Given the description of an element on the screen output the (x, y) to click on. 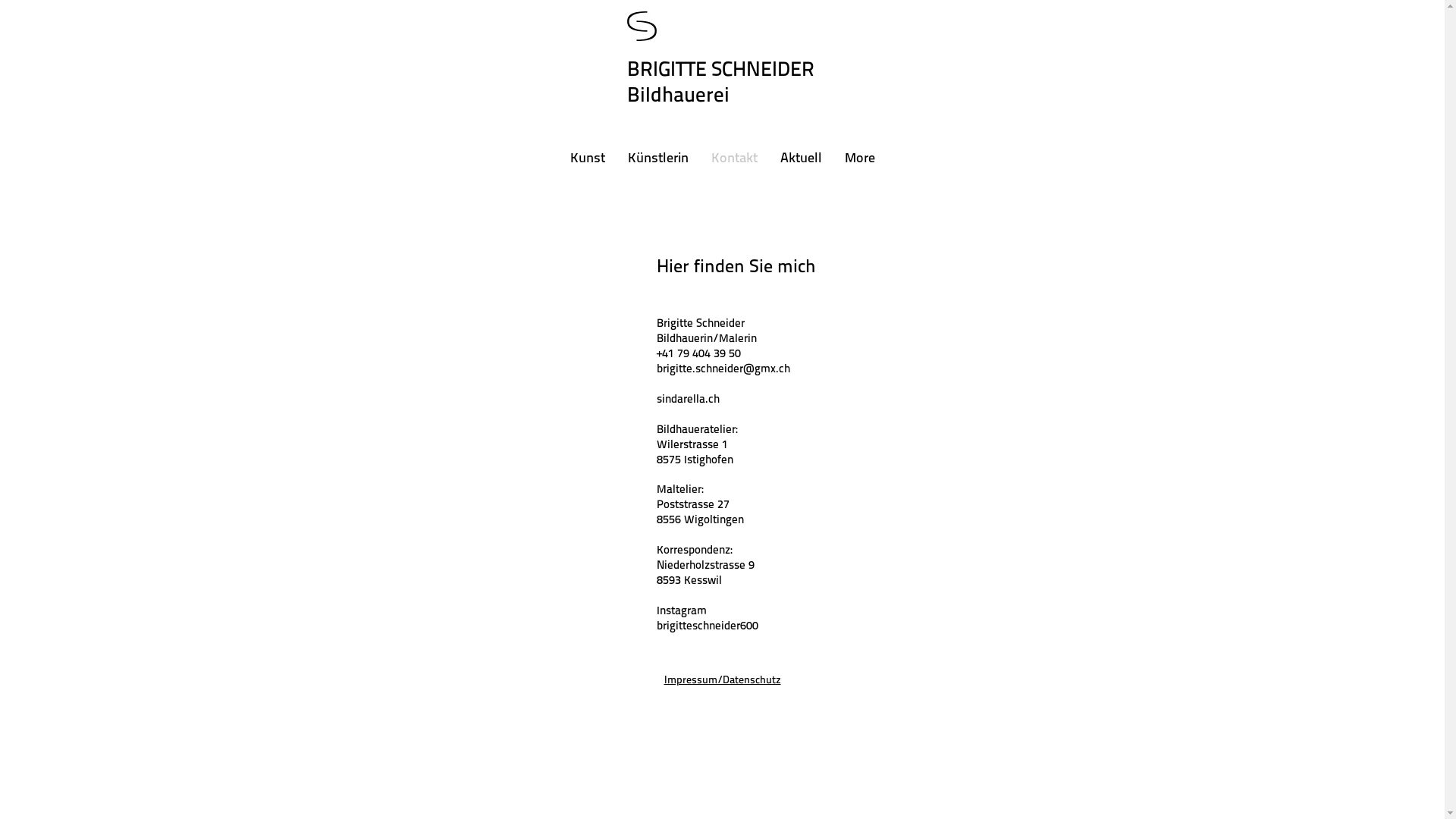
brigitte.schneider@gmx.ch Element type: text (723, 369)
BRIGITTE SCHNEIDER Element type: text (719, 70)
Kunst Element type: text (586, 158)
8556 Wigoltingen Element type: text (699, 518)
Kontakt Element type: text (733, 158)
Aktuell Element type: text (800, 158)
Impressum/Datenschutz Element type: text (722, 679)
